Given the description of an element on the screen output the (x, y) to click on. 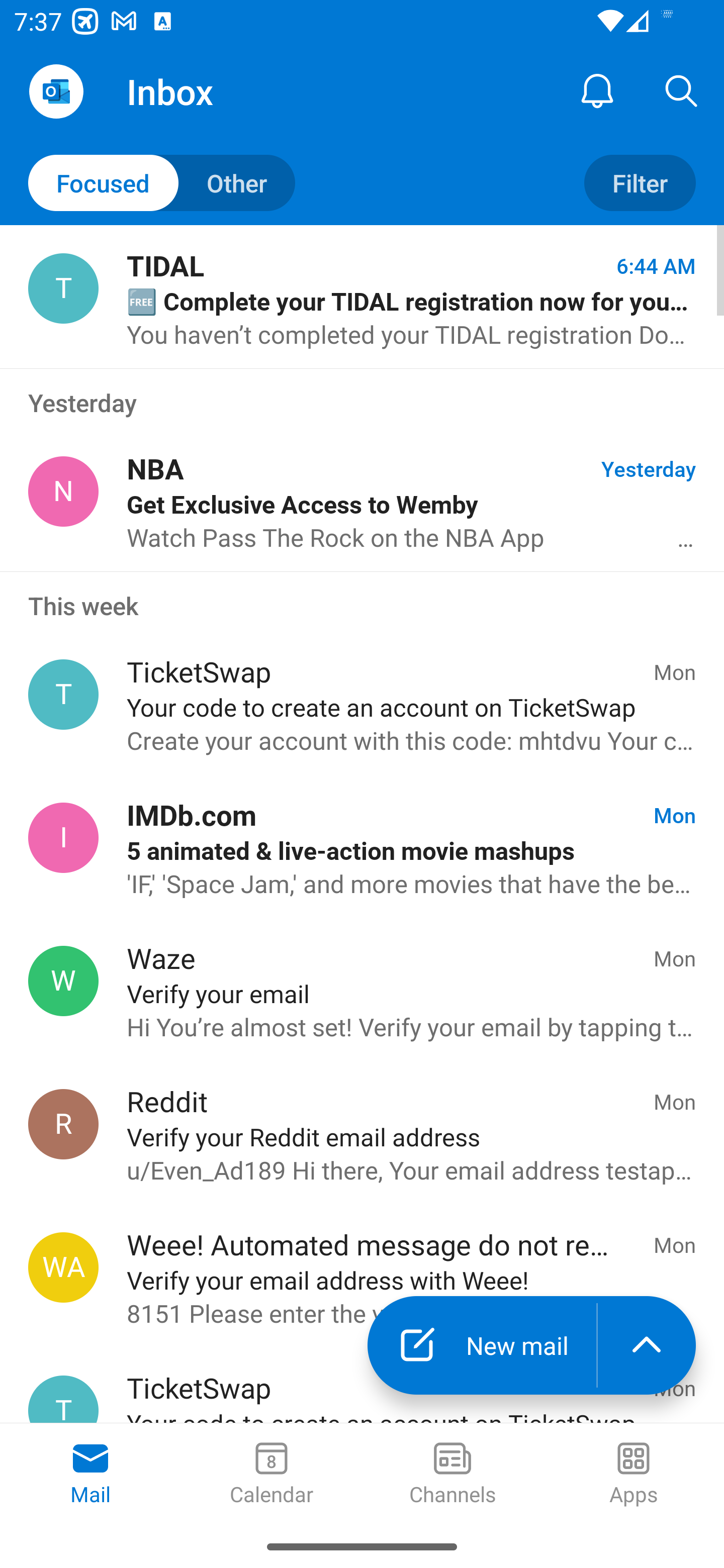
Notification Center (597, 90)
Search, ,  (681, 90)
Open Navigation Drawer (55, 91)
Toggle to other mails (161, 183)
Filter (639, 183)
TIDAL, hello@email.tidal.com (63, 288)
NBA, NBA@email.nba.com (63, 491)
TicketSwap, info@ticketswap.com (63, 694)
IMDb.com, do-not-reply@imdb.com (63, 837)
Waze, noreply@waze.com (63, 980)
Reddit, noreply@reddit.com (63, 1123)
New mail (481, 1344)
launch the extended action menu (646, 1344)
Calendar (271, 1474)
Channels (452, 1474)
Apps (633, 1474)
